Given the description of an element on the screen output the (x, y) to click on. 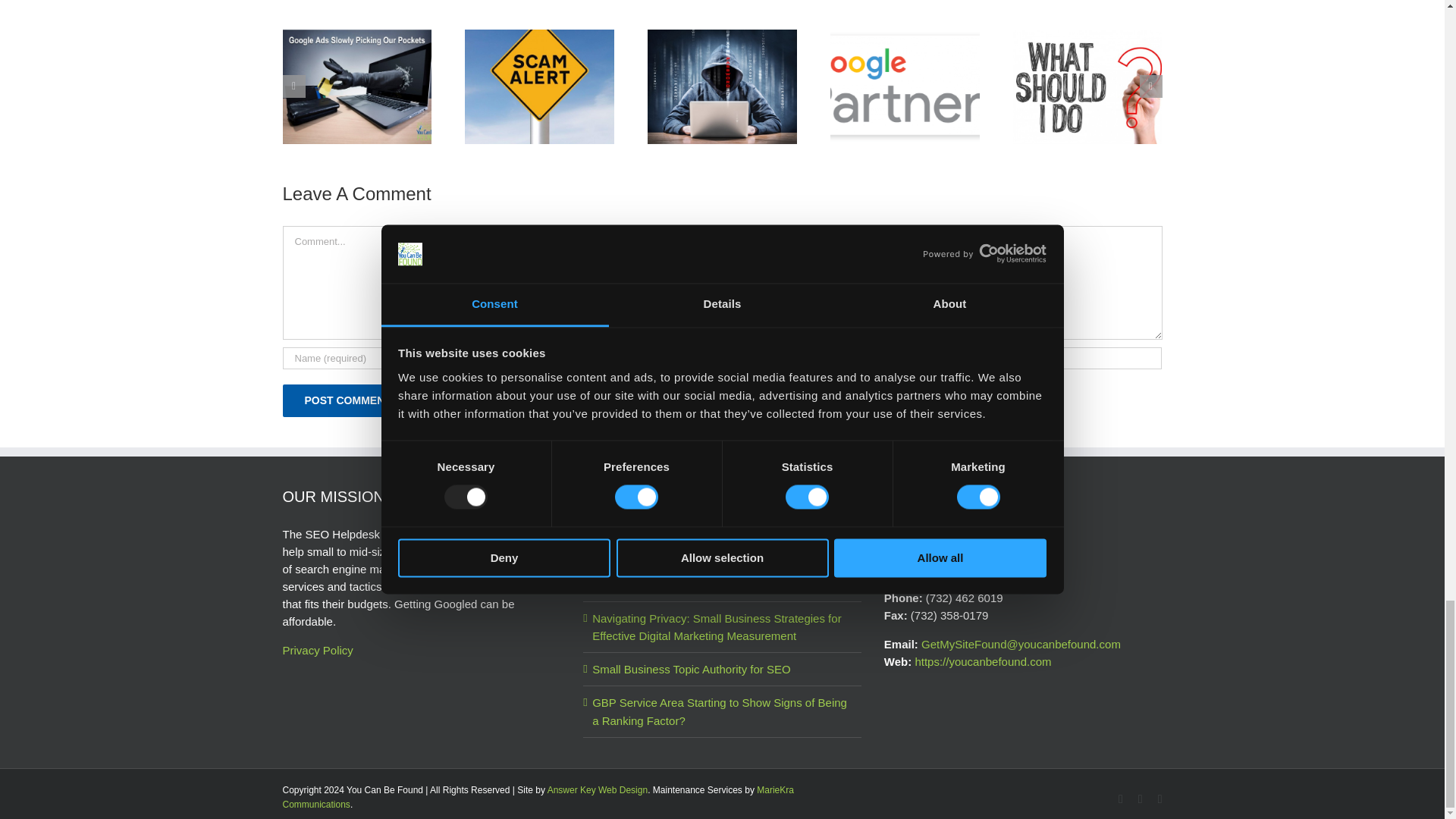
Post Comment (347, 400)
